Given the description of an element on the screen output the (x, y) to click on. 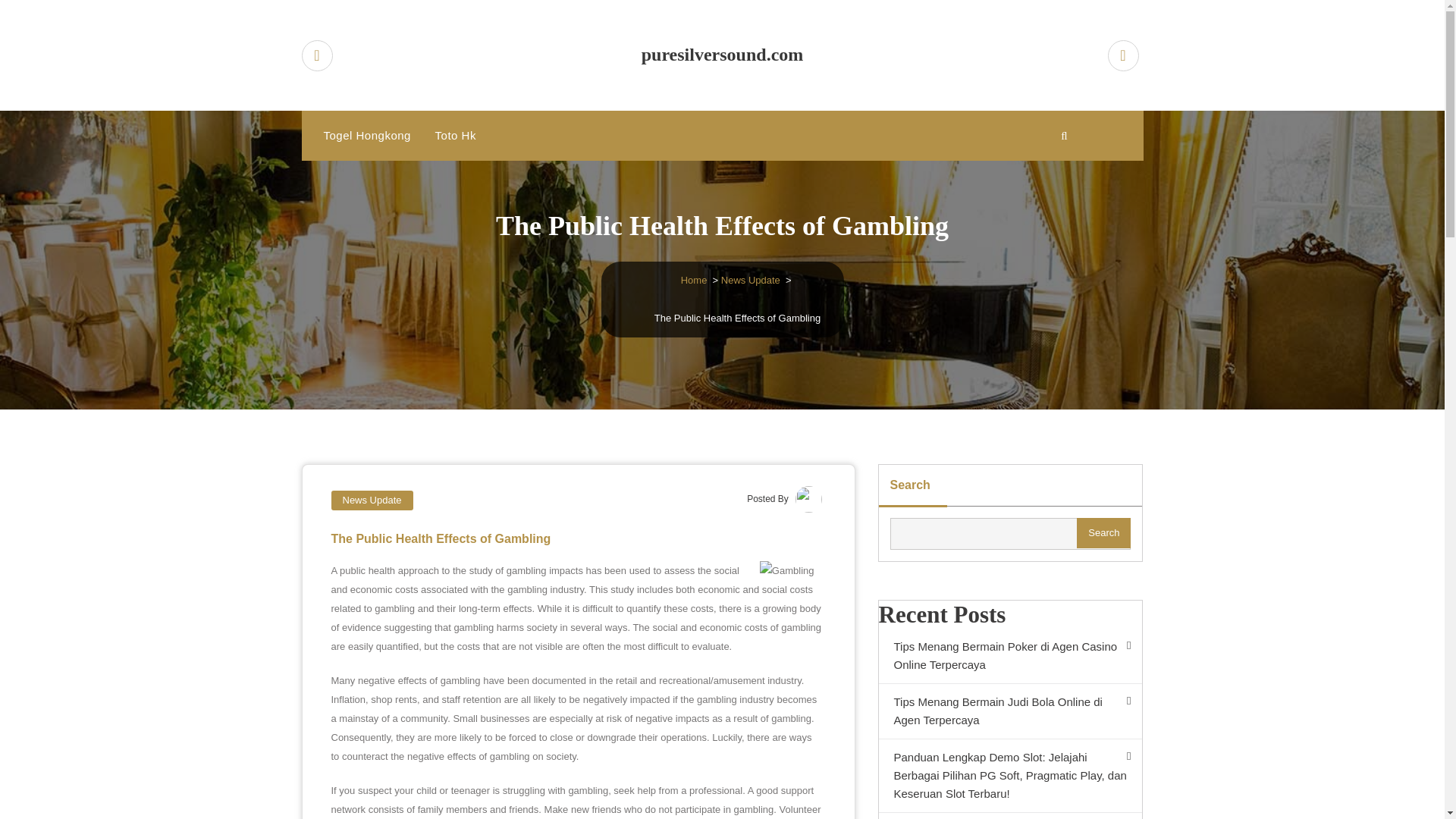
Toto Hk (455, 135)
Search (1104, 532)
News Update (371, 500)
Toto Hk (455, 135)
togel hongkong (366, 135)
Home (694, 279)
puresilversound.com (722, 54)
Tips Menang Bermain Poker di Agen Casino Online Terpercaya (1009, 655)
News Update (750, 279)
